Given the description of an element on the screen output the (x, y) to click on. 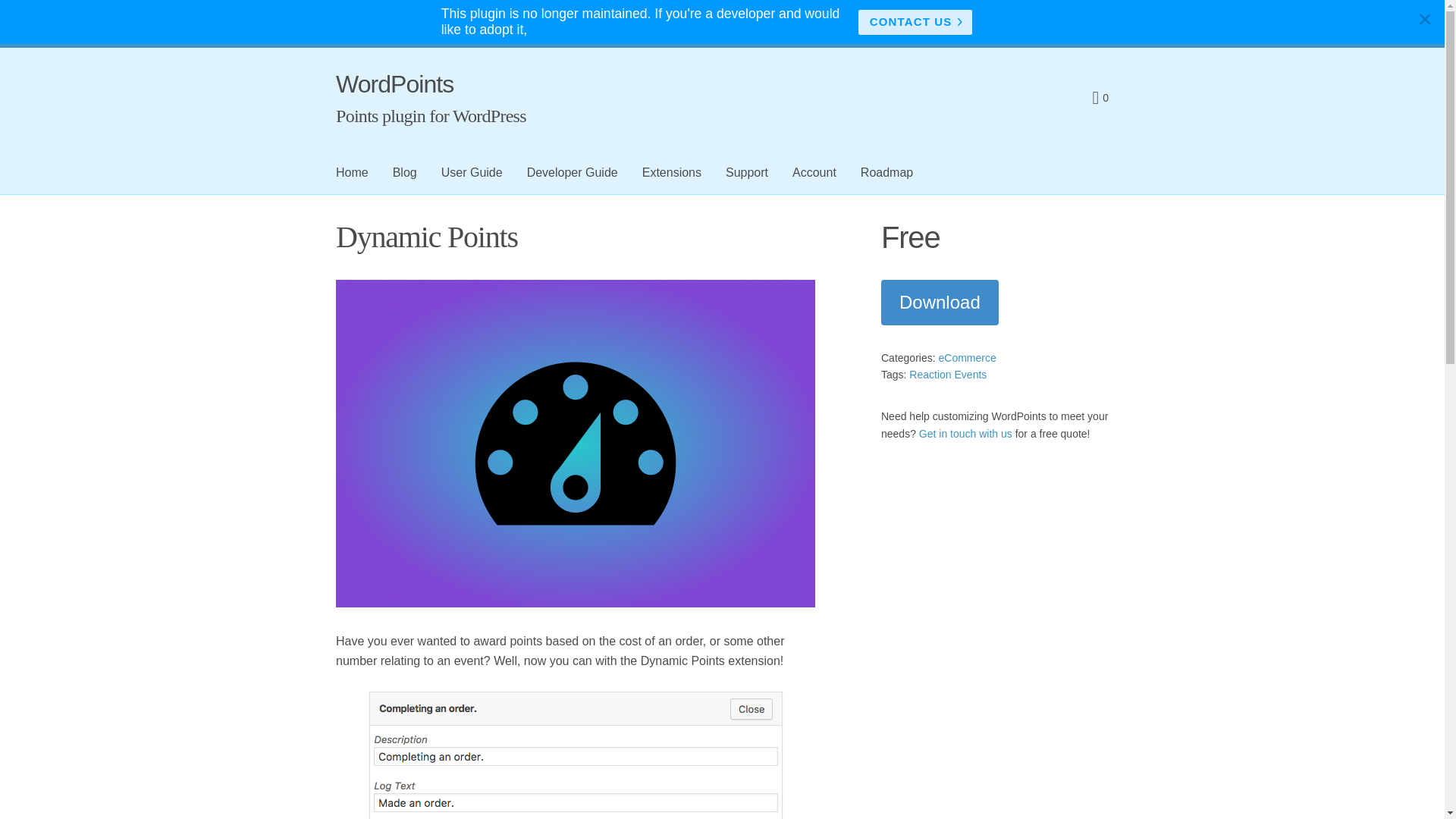
Roadmap (886, 172)
WordPoints (394, 84)
User Guide (472, 172)
WordPoints (394, 84)
Extensions (671, 172)
Account (814, 172)
Developer Guide (572, 172)
Support (746, 172)
Blog (404, 172)
Home (351, 172)
